Given the description of an element on the screen output the (x, y) to click on. 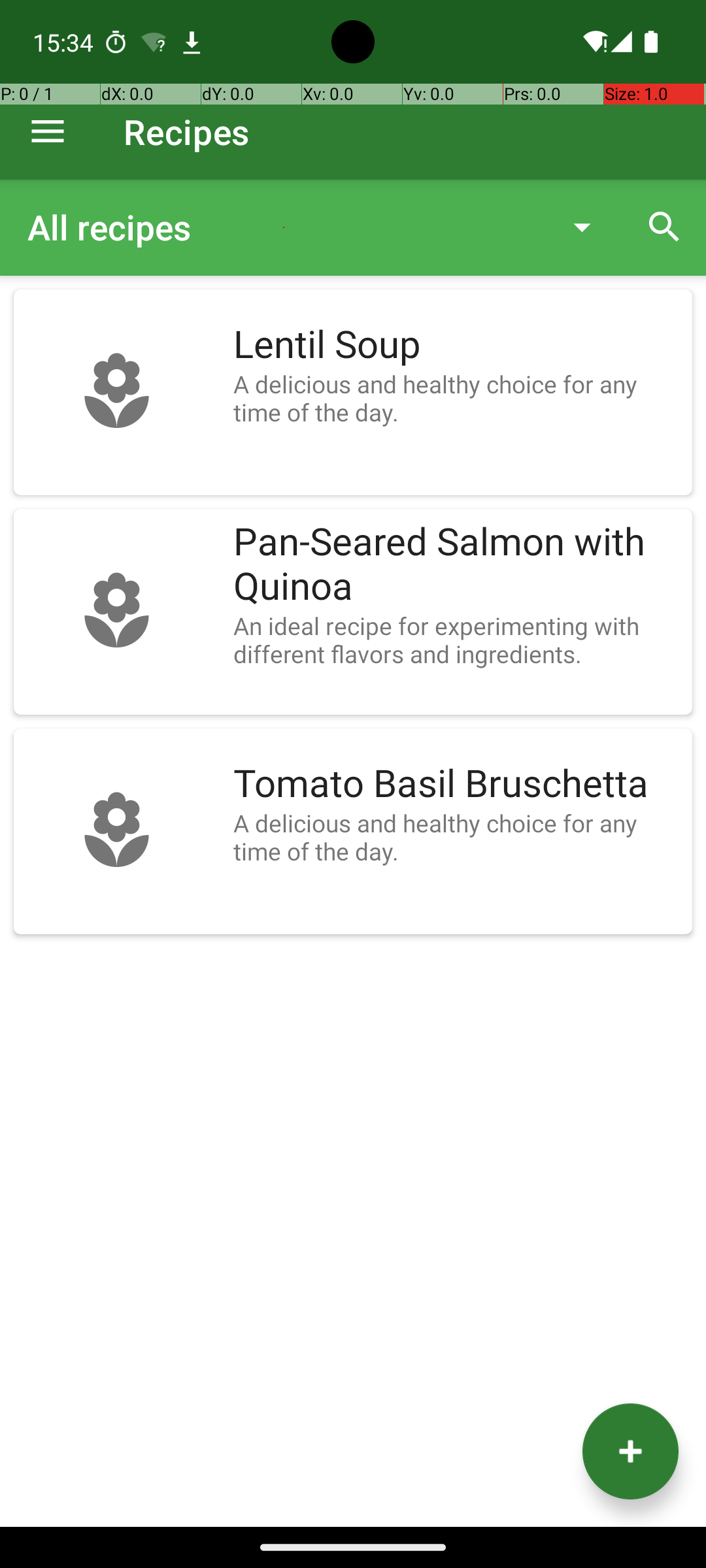
Tomato Basil Bruschetta Element type: android.widget.TextView (455, 783)
